Given the description of an element on the screen output the (x, y) to click on. 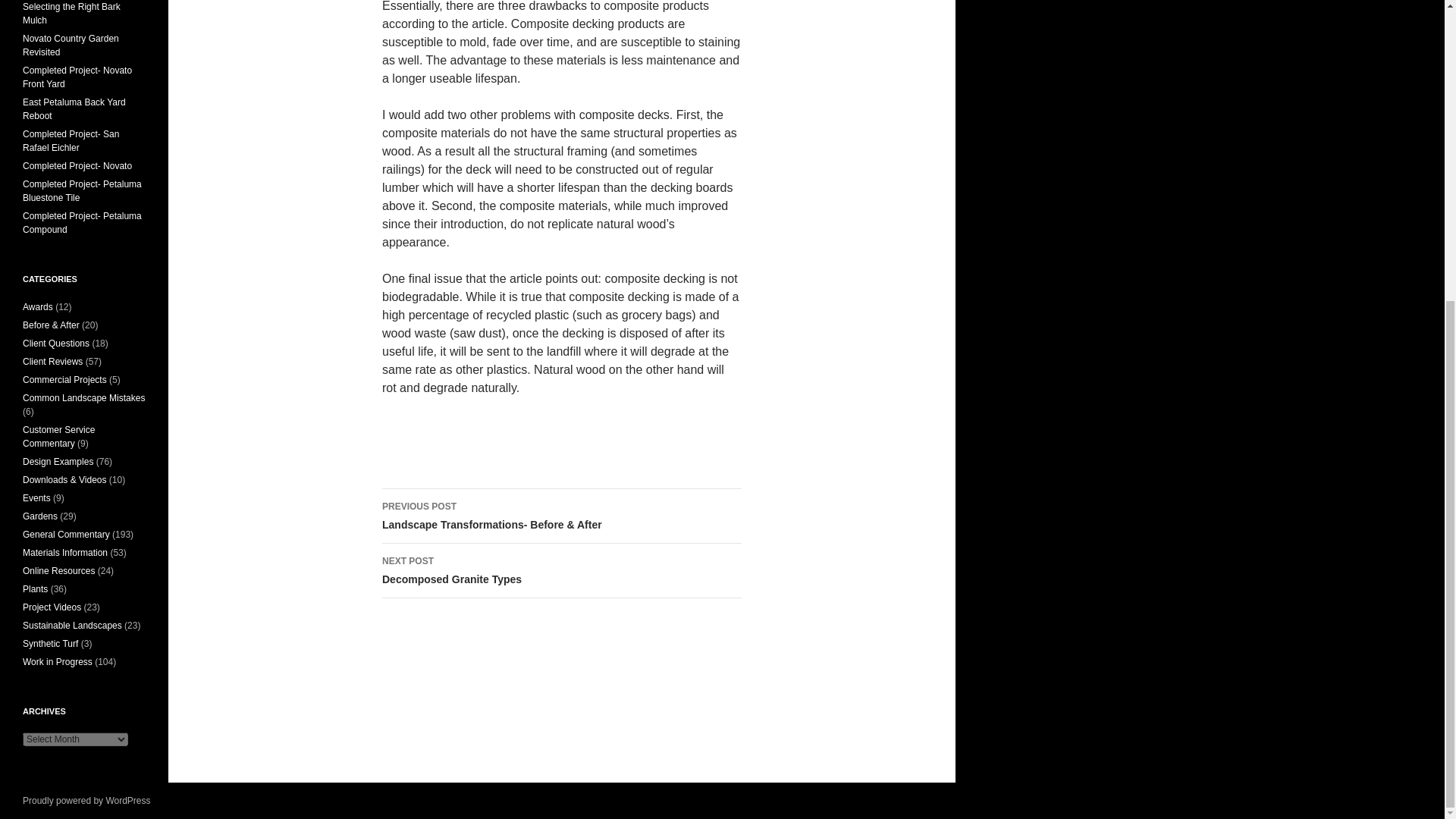
Completed Project- Novato Front Yard (77, 77)
Completed Project- San Rafael Eichler (561, 570)
Novato Country Garden Revisited (71, 140)
East Petaluma Back Yard Reboot (71, 45)
Selecting the Right Bark Mulch (74, 109)
